Given the description of an element on the screen output the (x, y) to click on. 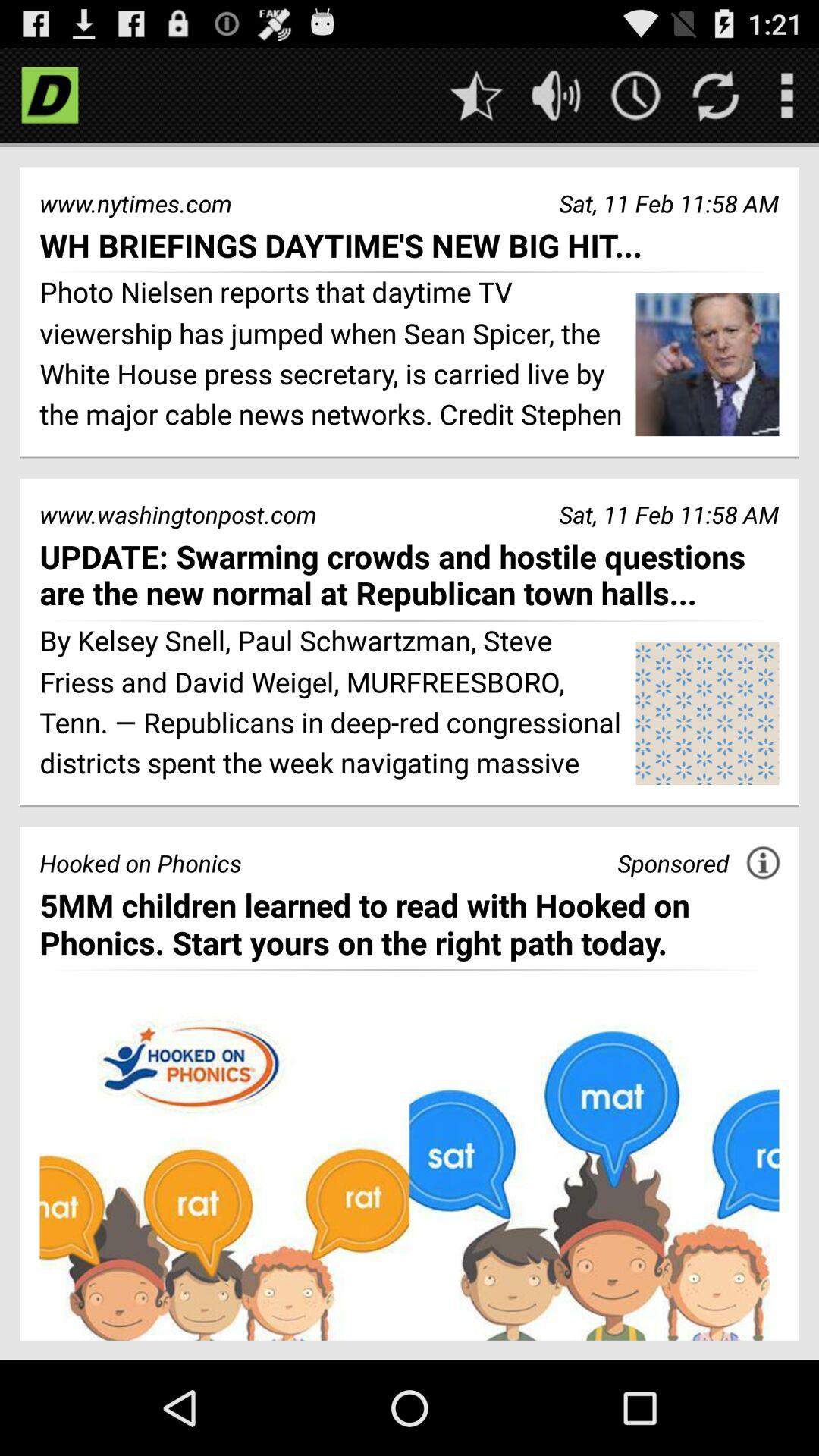
favorites (476, 95)
